Given the description of an element on the screen output the (x, y) to click on. 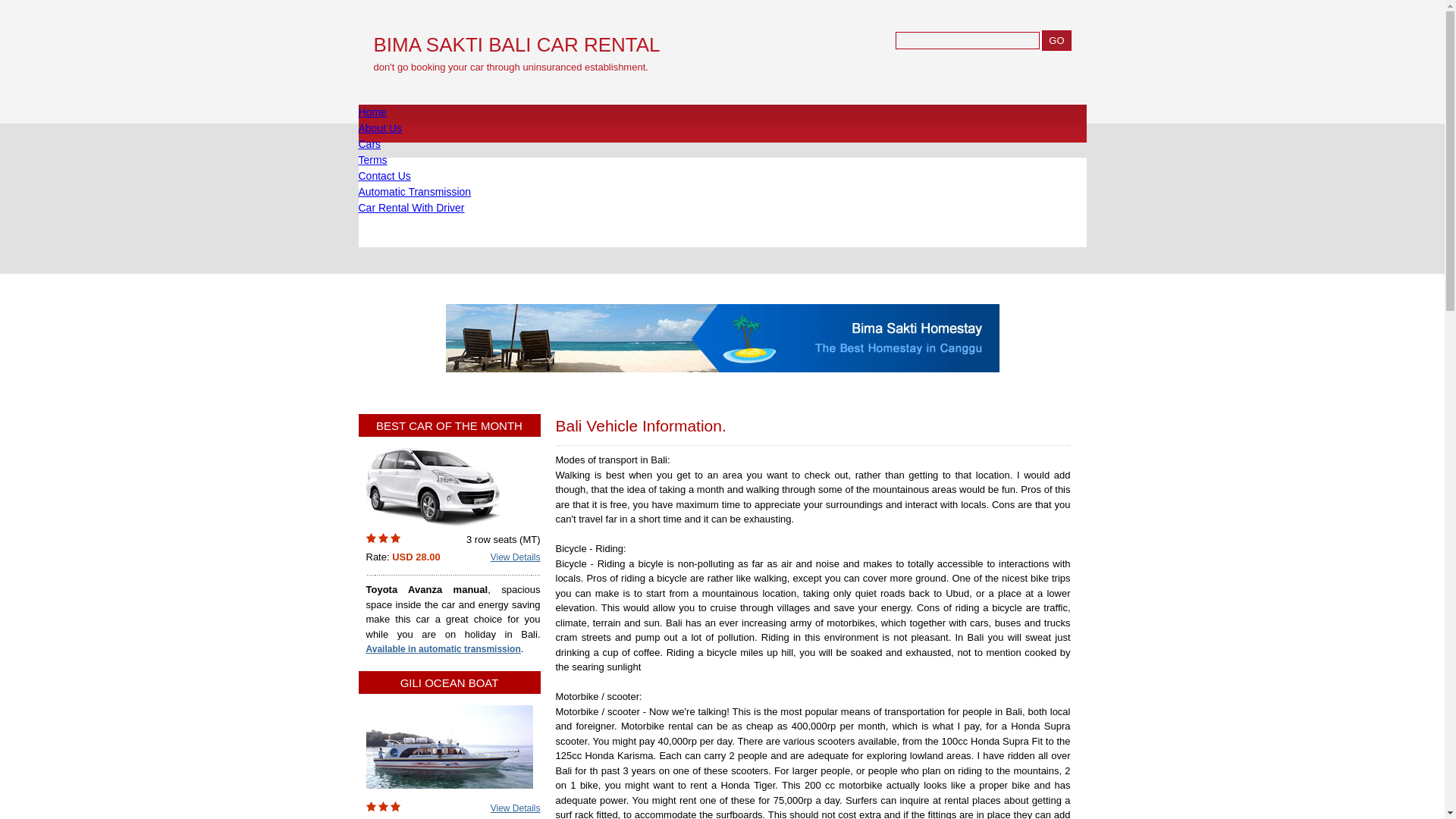
Home (371, 111)
View Details (515, 557)
Car Rental With Driver (411, 207)
Contact Us (384, 175)
Automatic Transmission (414, 191)
Home (371, 111)
GO (1056, 40)
Bali Car Rental (369, 143)
Terms (372, 159)
Bali Car Hire (379, 128)
Cars (369, 143)
GO (1056, 40)
Contact Us (384, 175)
Automatic Transmission (414, 191)
Terms (372, 159)
